Given the description of an element on the screen output the (x, y) to click on. 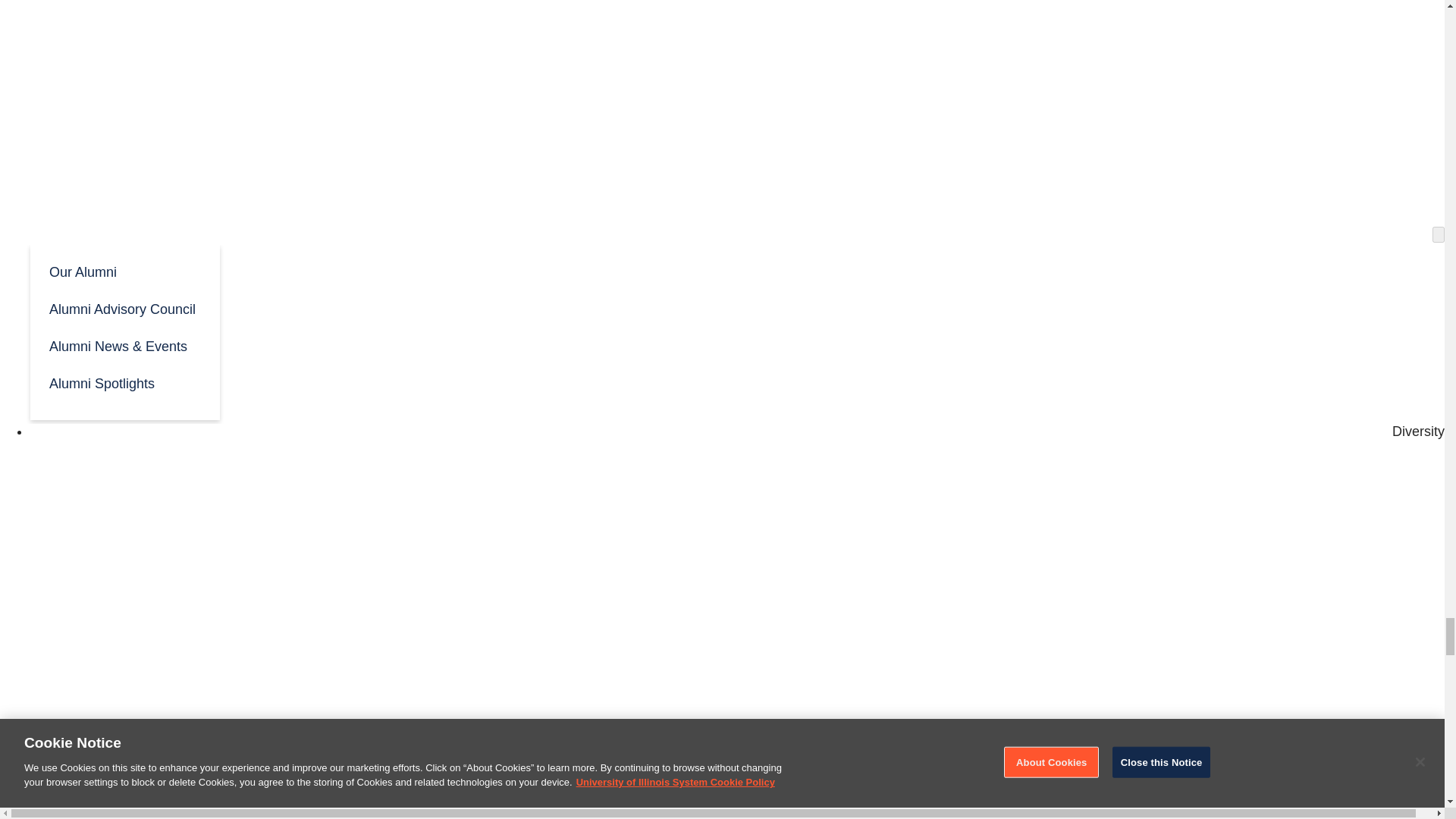
Alumni Advisory Council (125, 307)
Diversity (1417, 431)
Our Alumni (125, 270)
Alumni Spotlights (125, 382)
